Given the description of an element on the screen output the (x, y) to click on. 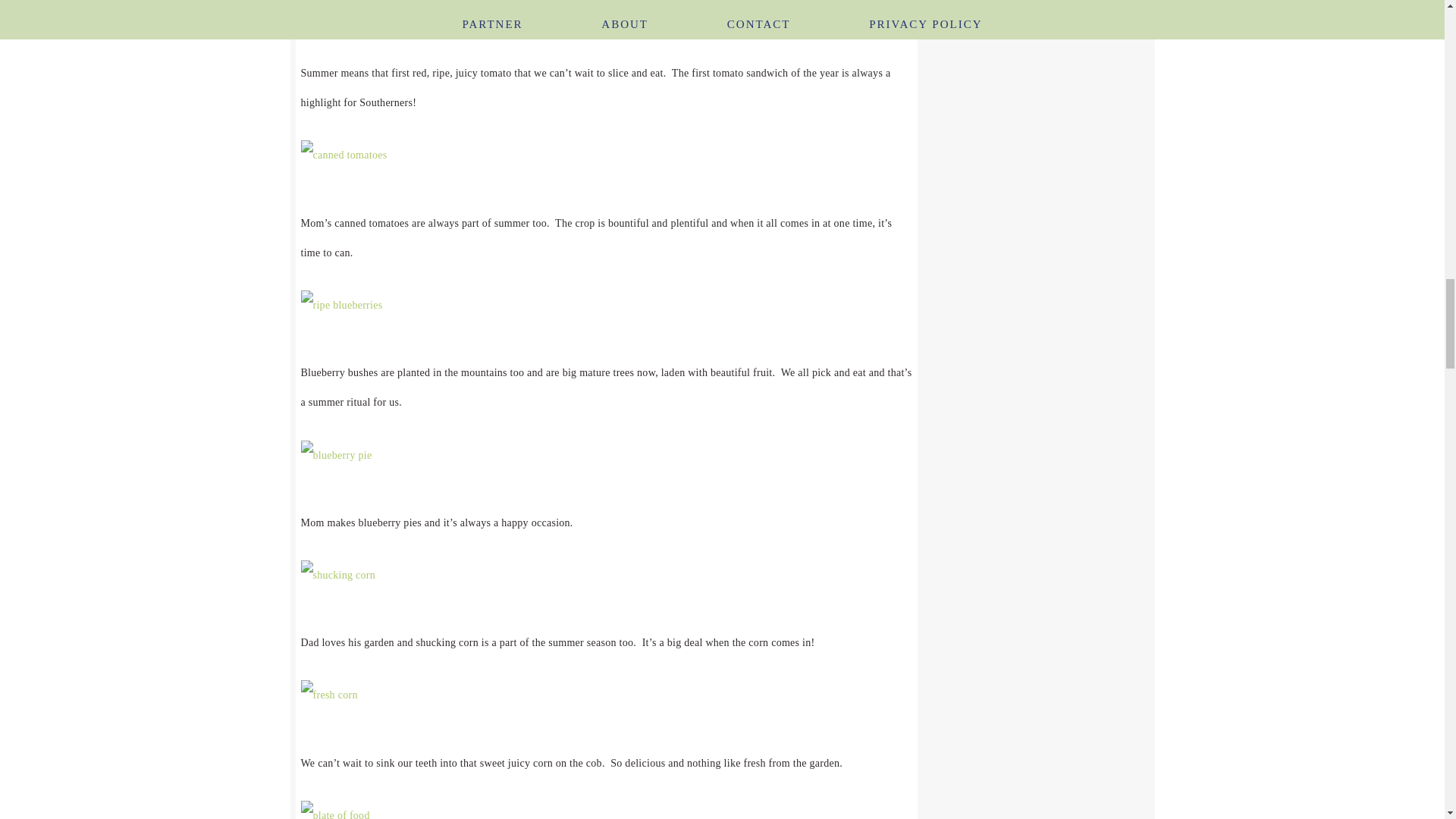
blueberry pie (335, 455)
fresh corn (327, 695)
ripe blueberries (340, 305)
shucking corn (337, 574)
plate of food (334, 809)
ripe tomato (330, 28)
canned tomatoes (343, 154)
